Given the description of an element on the screen output the (x, y) to click on. 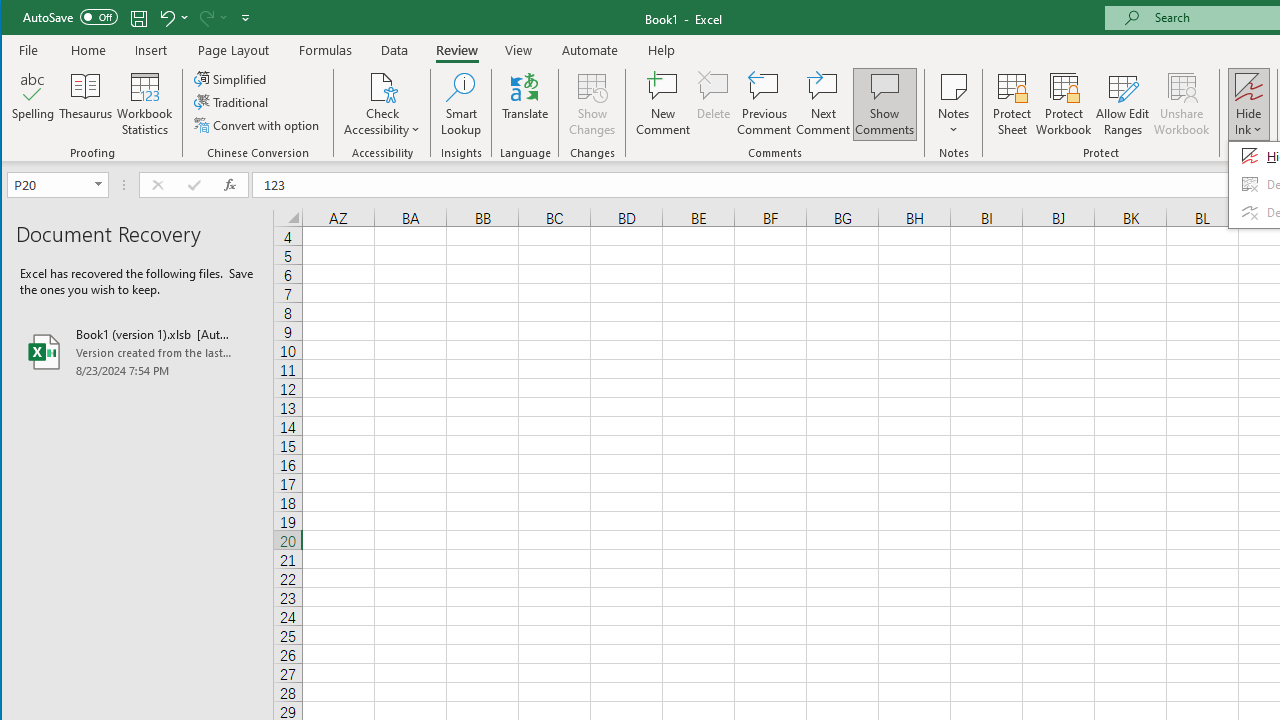
Smart Lookup (461, 104)
Allow Edit Ranges (1123, 104)
Show Comments (884, 104)
Unshare Workbook (1182, 104)
Next Comment (822, 104)
New Comment (662, 104)
Delete (713, 104)
